Given the description of an element on the screen output the (x, y) to click on. 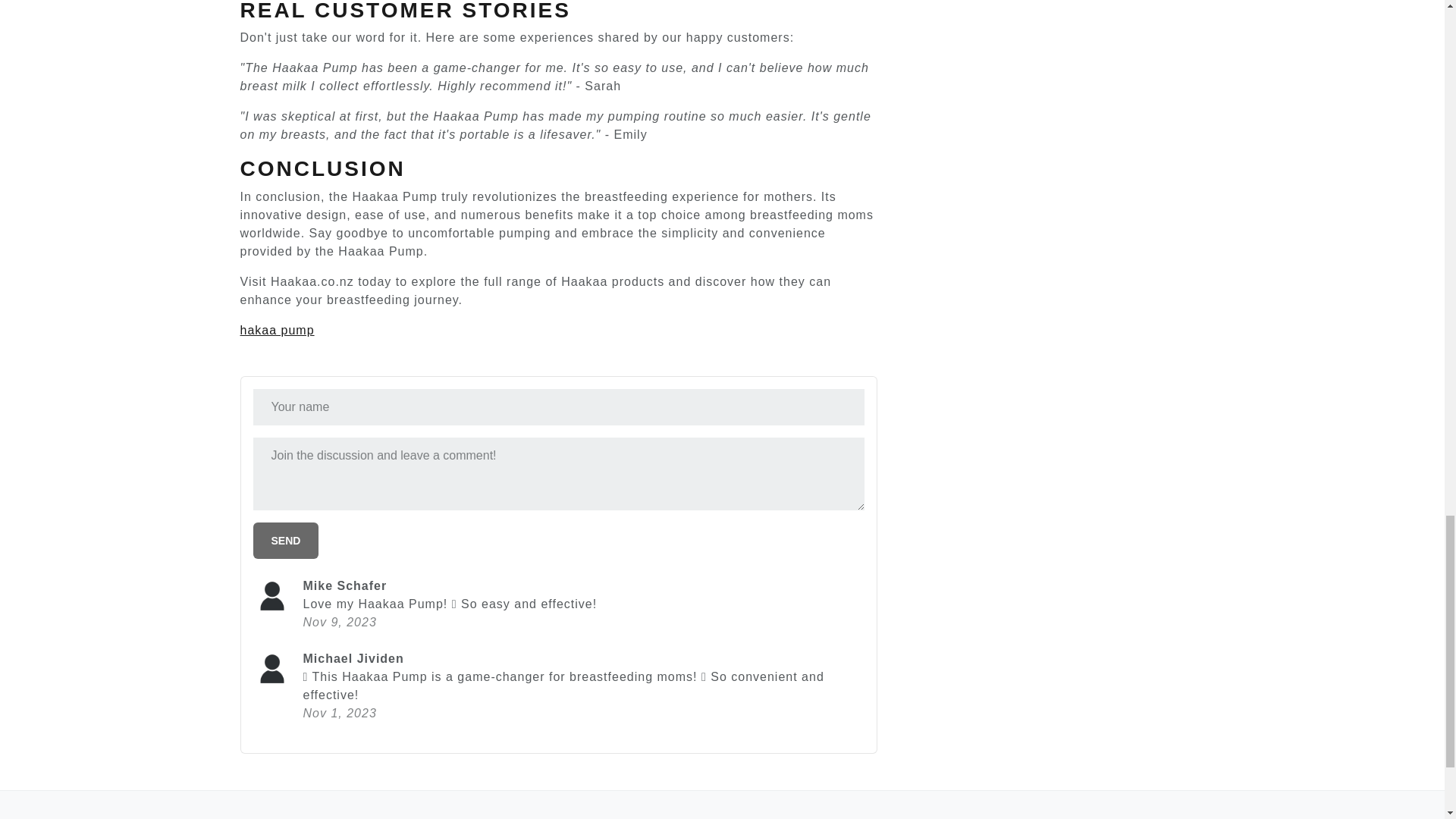
hakaa pump (277, 329)
Send (285, 540)
Send (285, 540)
